Given the description of an element on the screen output the (x, y) to click on. 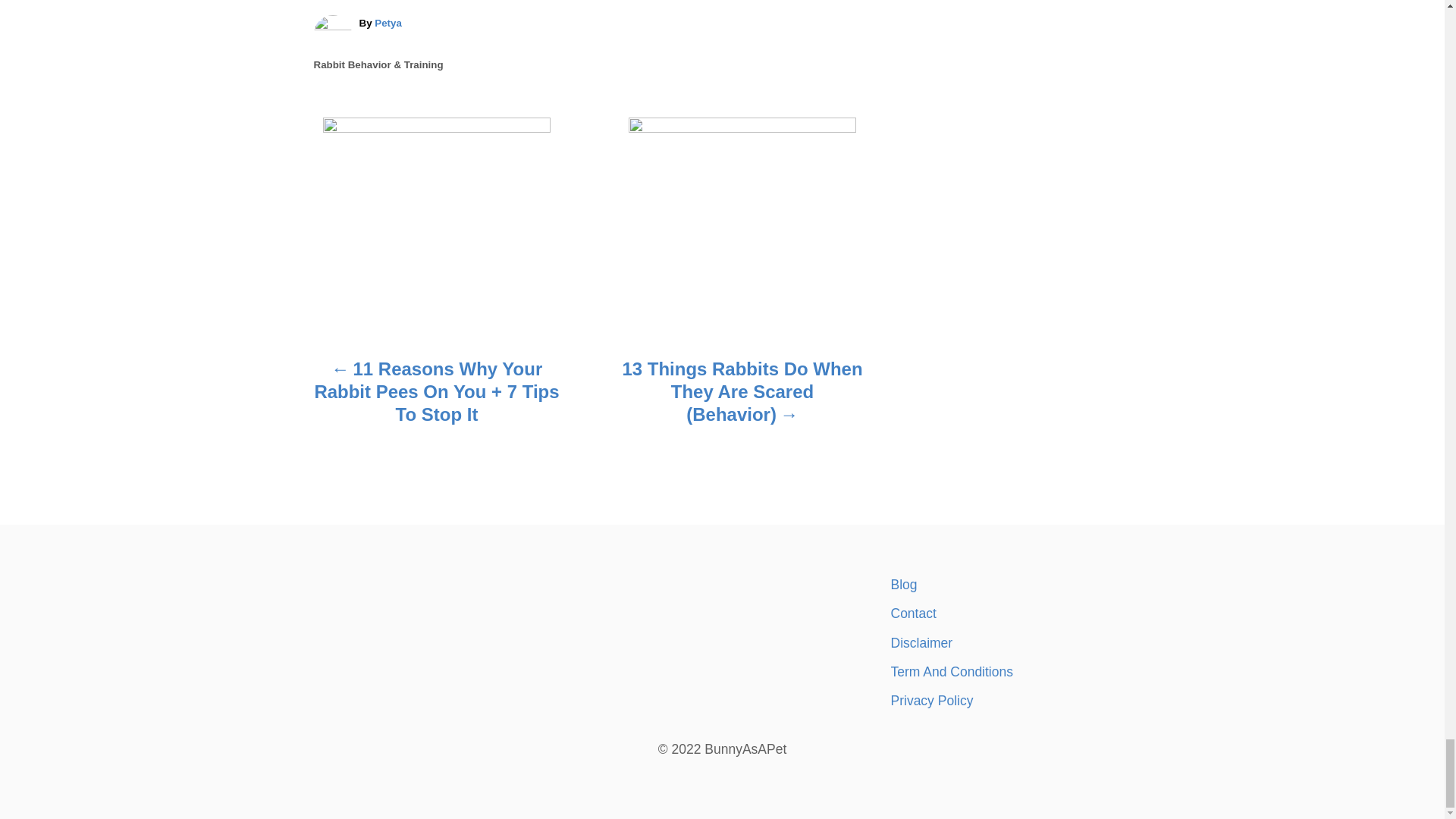
Petya (387, 22)
